Given the description of an element on the screen output the (x, y) to click on. 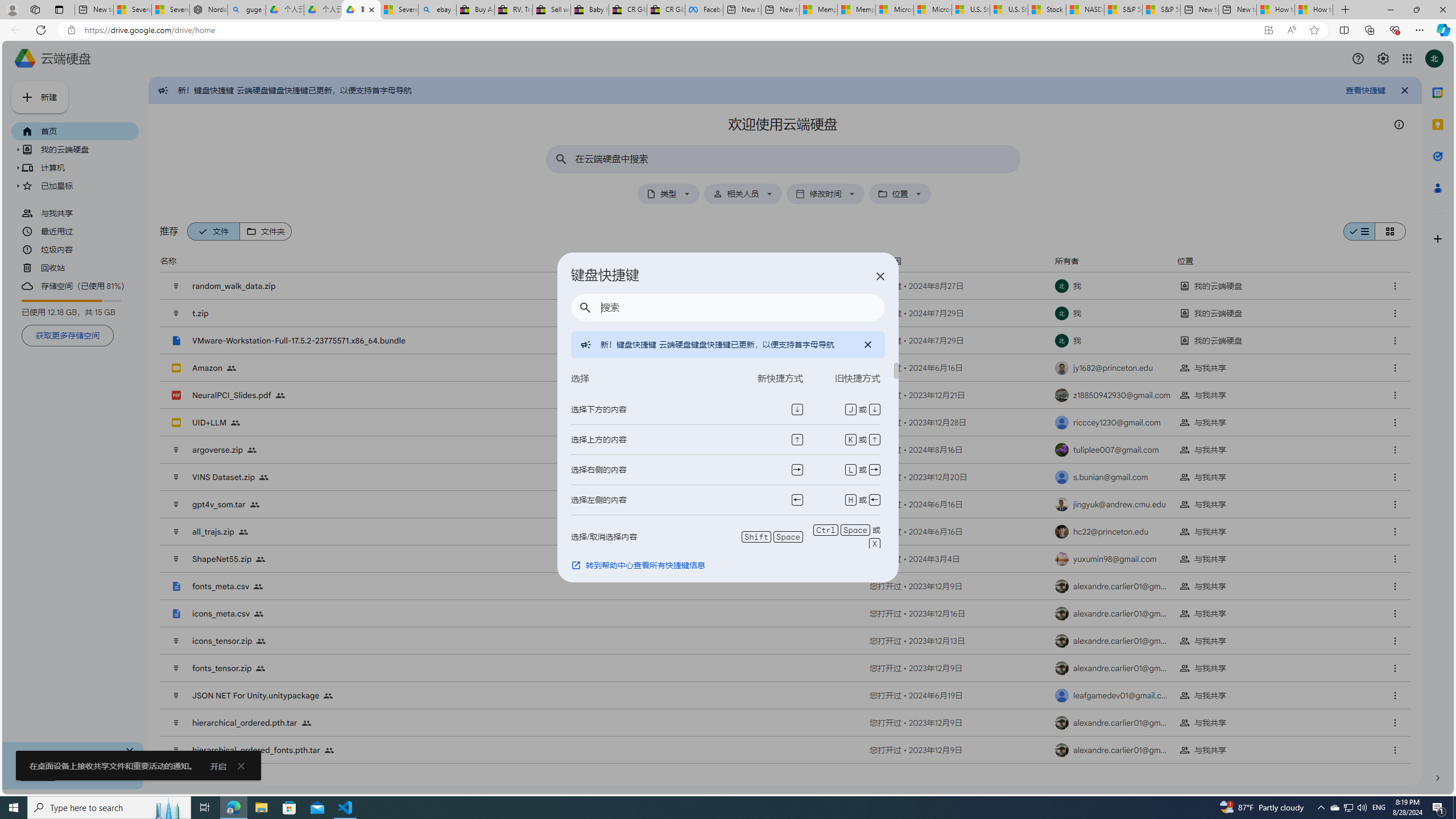
How to Use a Monitor With Your Closed Laptop (1314, 9)
Buy Auto Parts & Accessories | eBay (475, 9)
RV, Trailer & Camper Steps & Ladders for sale | eBay (513, 9)
App bar (728, 29)
Sell worldwide with eBay (551, 9)
S&P 500, Nasdaq end lower, weighed by Nvidia dip | Watch (1161, 9)
